Given the description of an element on the screen output the (x, y) to click on. 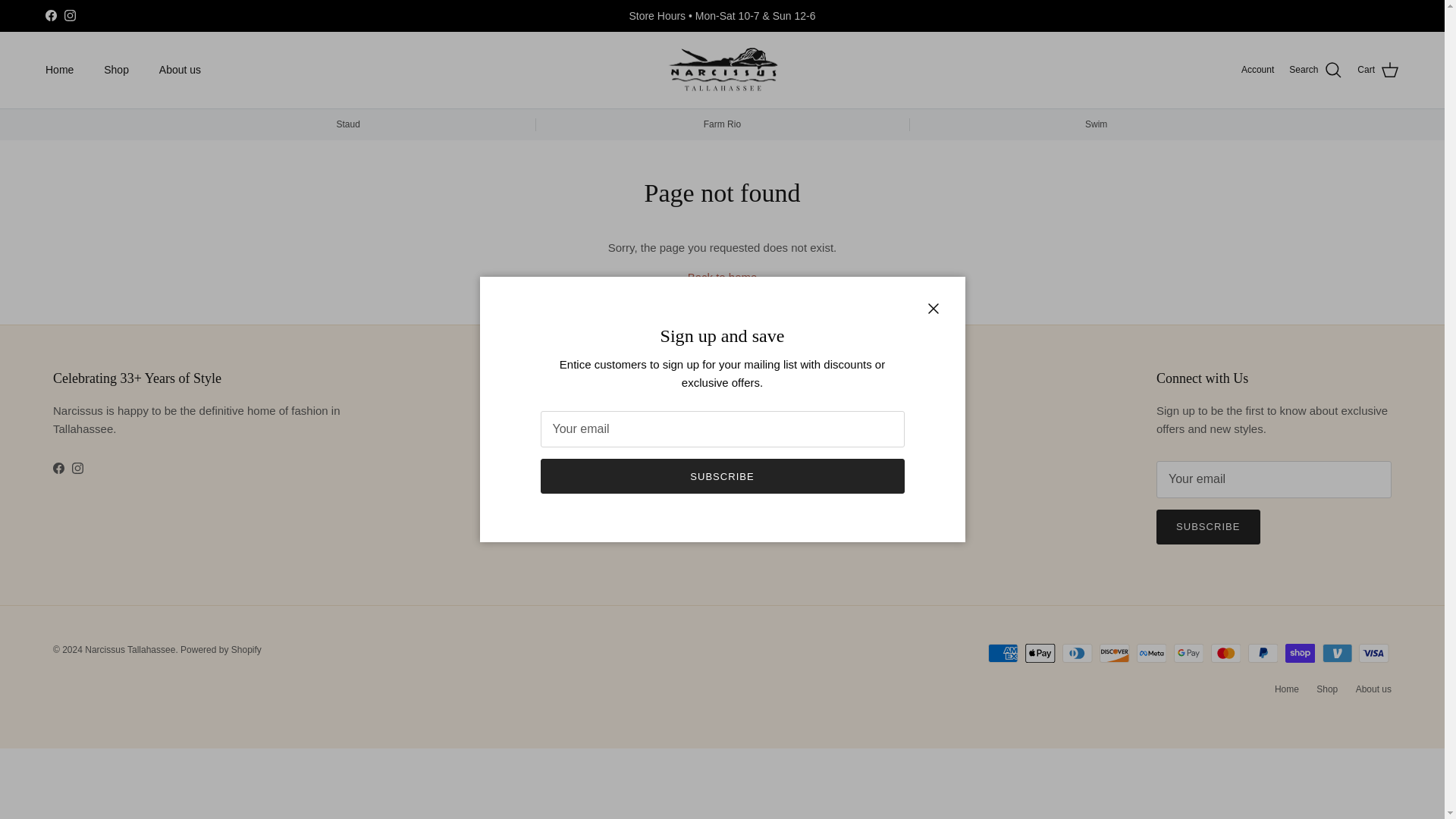
Narcissus Tallahassee on Instagram (76, 468)
Visa (1373, 652)
Discover (1114, 652)
Narcissus Tallahassee on Facebook (58, 468)
Cart (1377, 70)
Account (1257, 69)
Narcissus Tallahassee (721, 70)
Instagram (69, 15)
Shop Pay (1299, 652)
Apple Pay (1040, 652)
PayPal (1262, 652)
Search (1315, 70)
About us (179, 70)
Home (59, 70)
Google Pay (1188, 652)
